Given the description of an element on the screen output the (x, y) to click on. 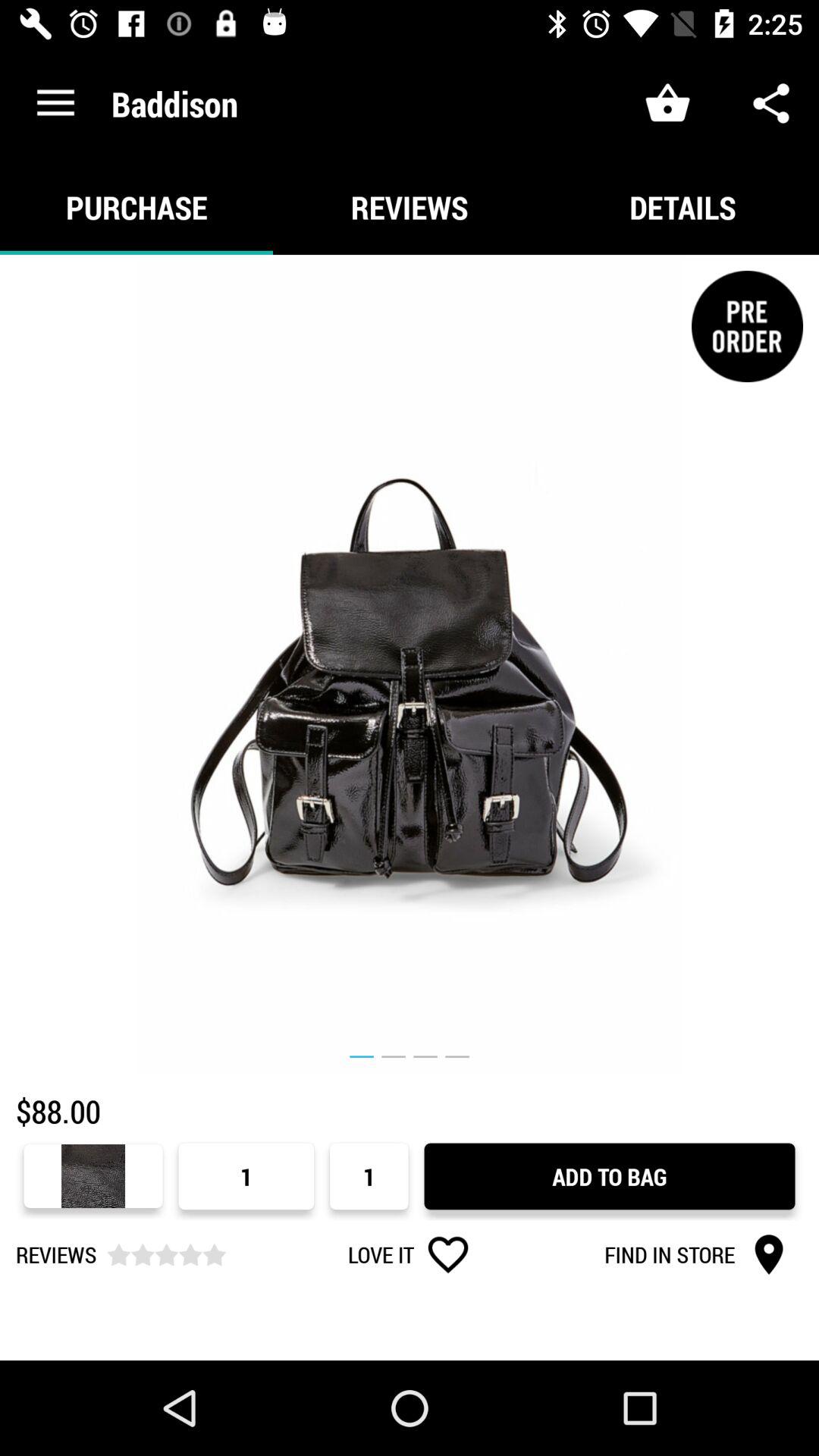
tap the icon at the center (409, 663)
